Given the description of an element on the screen output the (x, y) to click on. 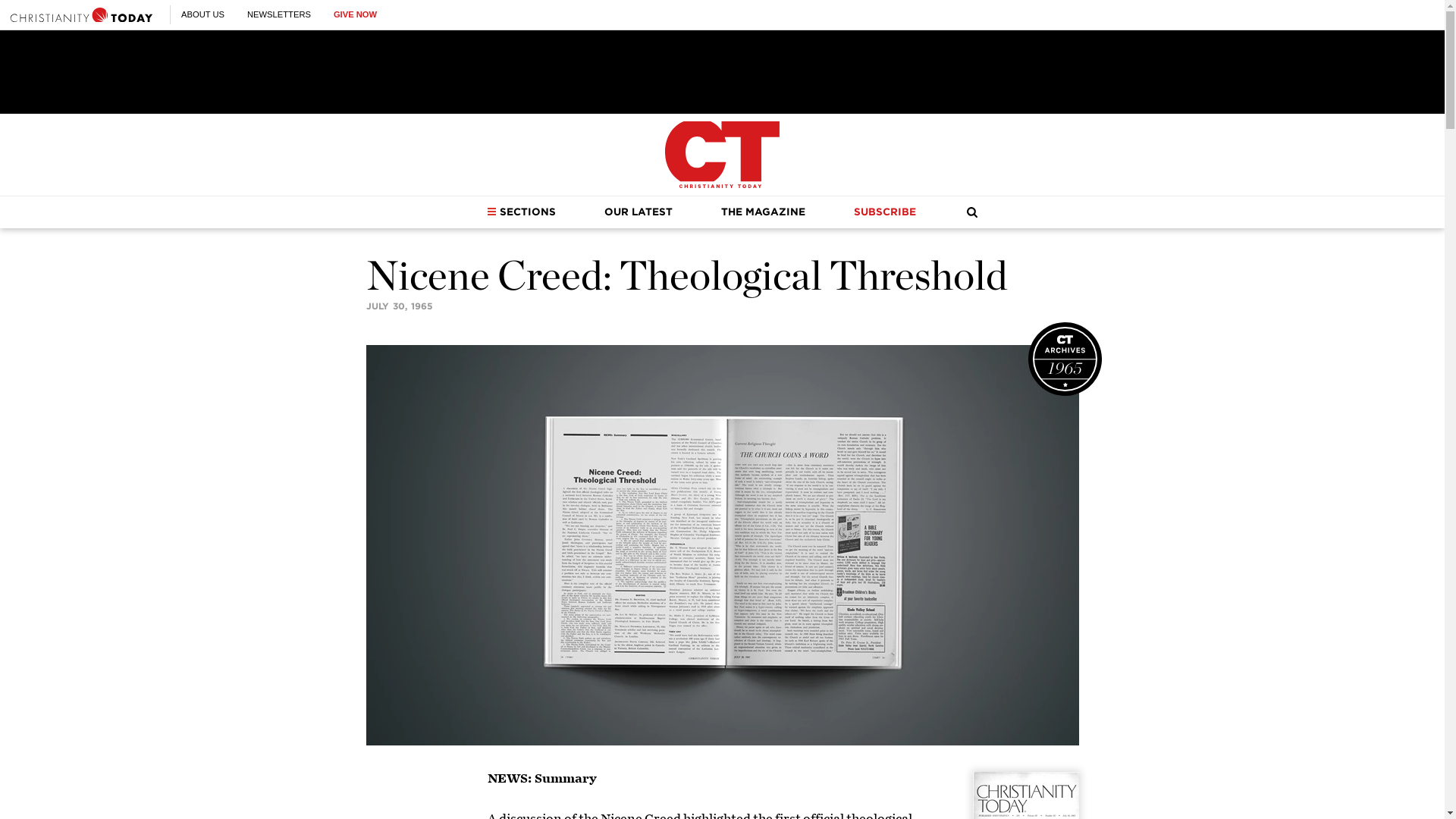
NEWSLETTERS (278, 14)
SECTIONS (521, 212)
Sections Dropdown (491, 211)
Christianity Today (81, 14)
Christianity Today (721, 154)
GIVE NOW (355, 14)
ABOUT US (202, 14)
3rd party ad content (721, 71)
